Given the description of an element on the screen output the (x, y) to click on. 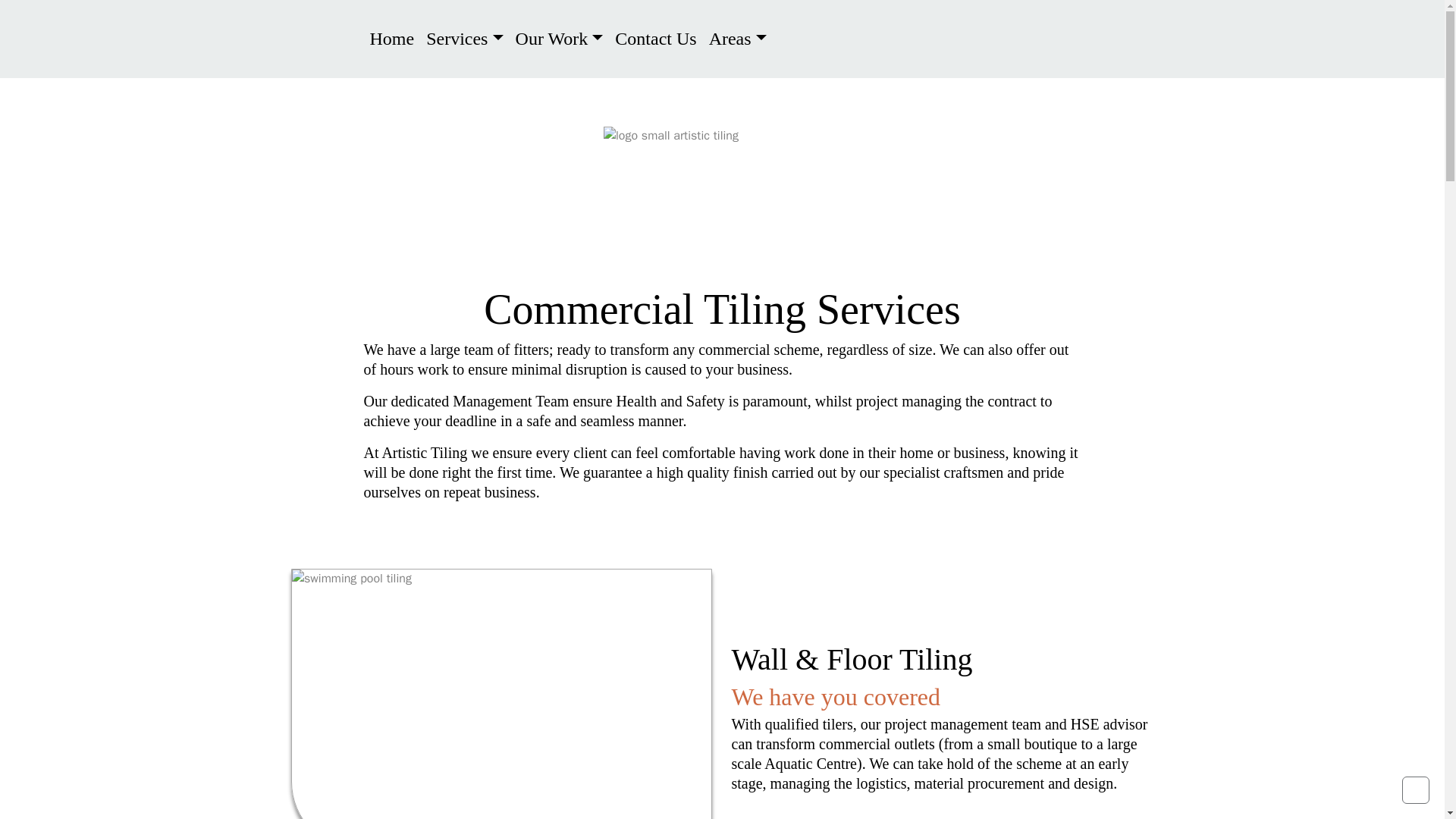
Home (391, 38)
Contact Us (654, 38)
Services (464, 38)
Areas (738, 38)
Our Work (559, 38)
